Given the description of an element on the screen output the (x, y) to click on. 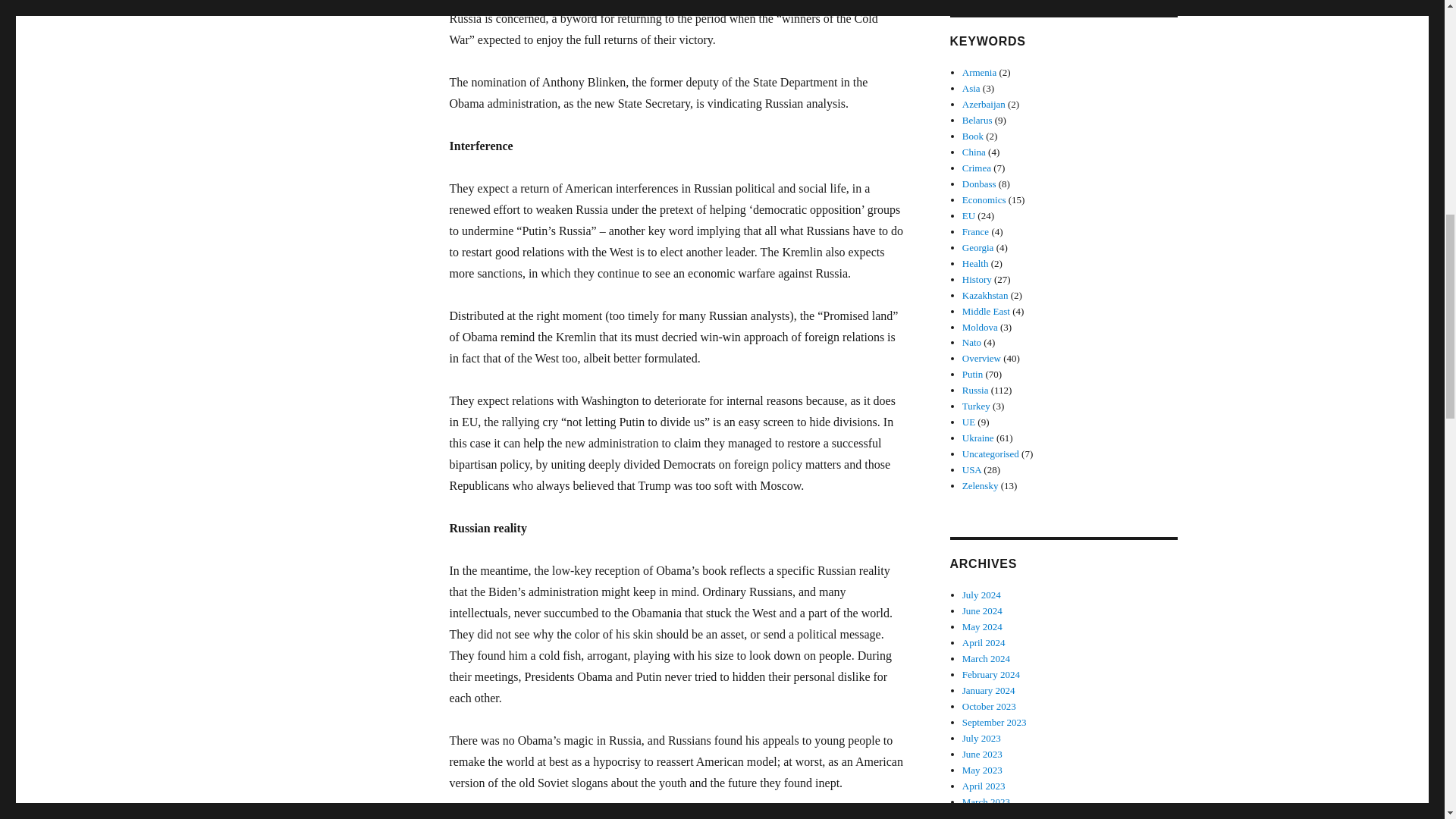
Book (973, 135)
EU (968, 215)
Belarus (977, 120)
Asia (970, 88)
Azerbaijan (984, 103)
Donbass (978, 183)
Economics (984, 199)
Crimea (976, 167)
Armenia (978, 71)
China (973, 152)
